Given the description of an element on the screen output the (x, y) to click on. 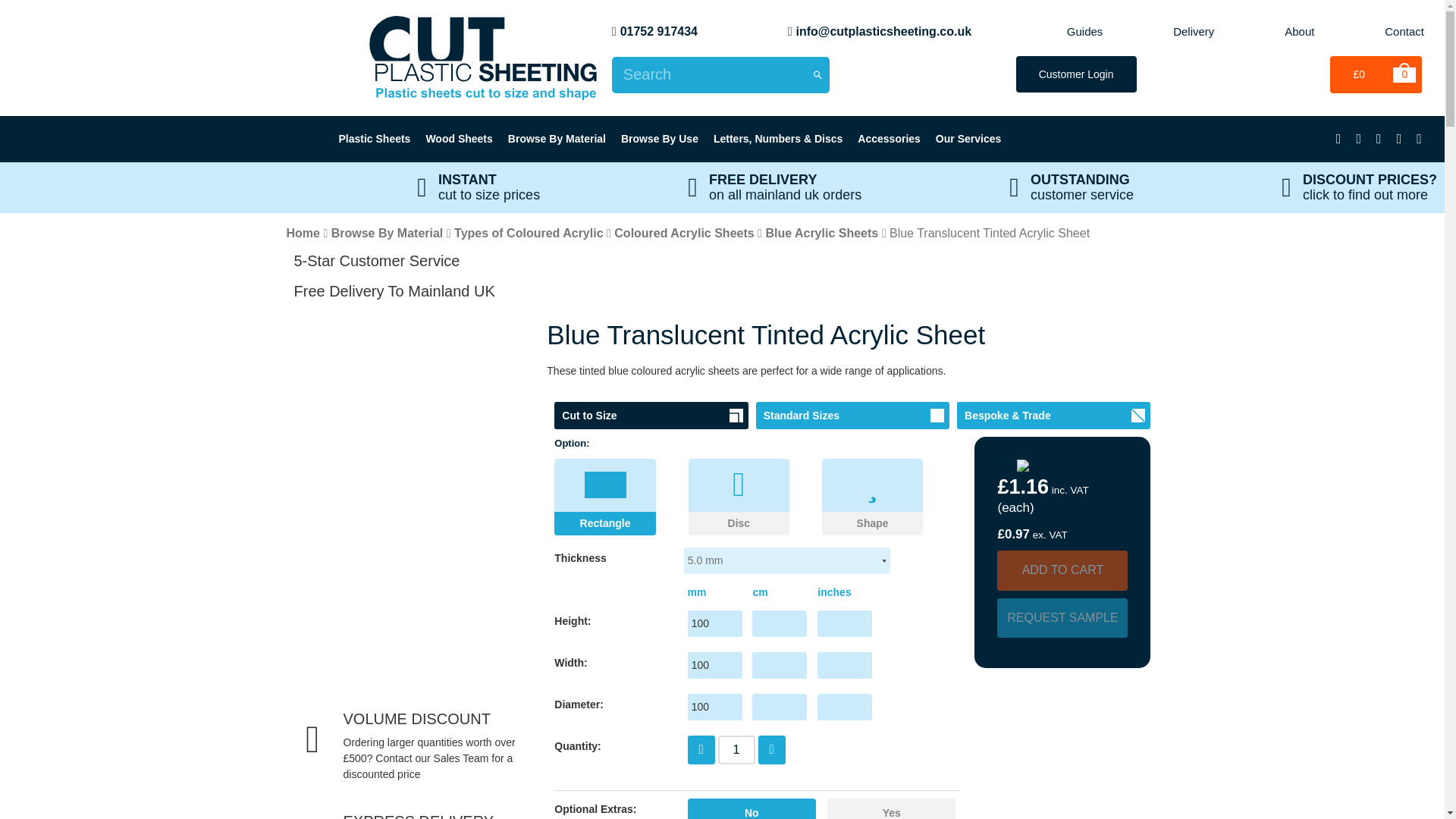
Blue Translucent Tinted Acrylic Sheet (482, 57)
1 (736, 749)
100 (714, 664)
100 (714, 623)
100 (714, 706)
